Given the description of an element on the screen output the (x, y) to click on. 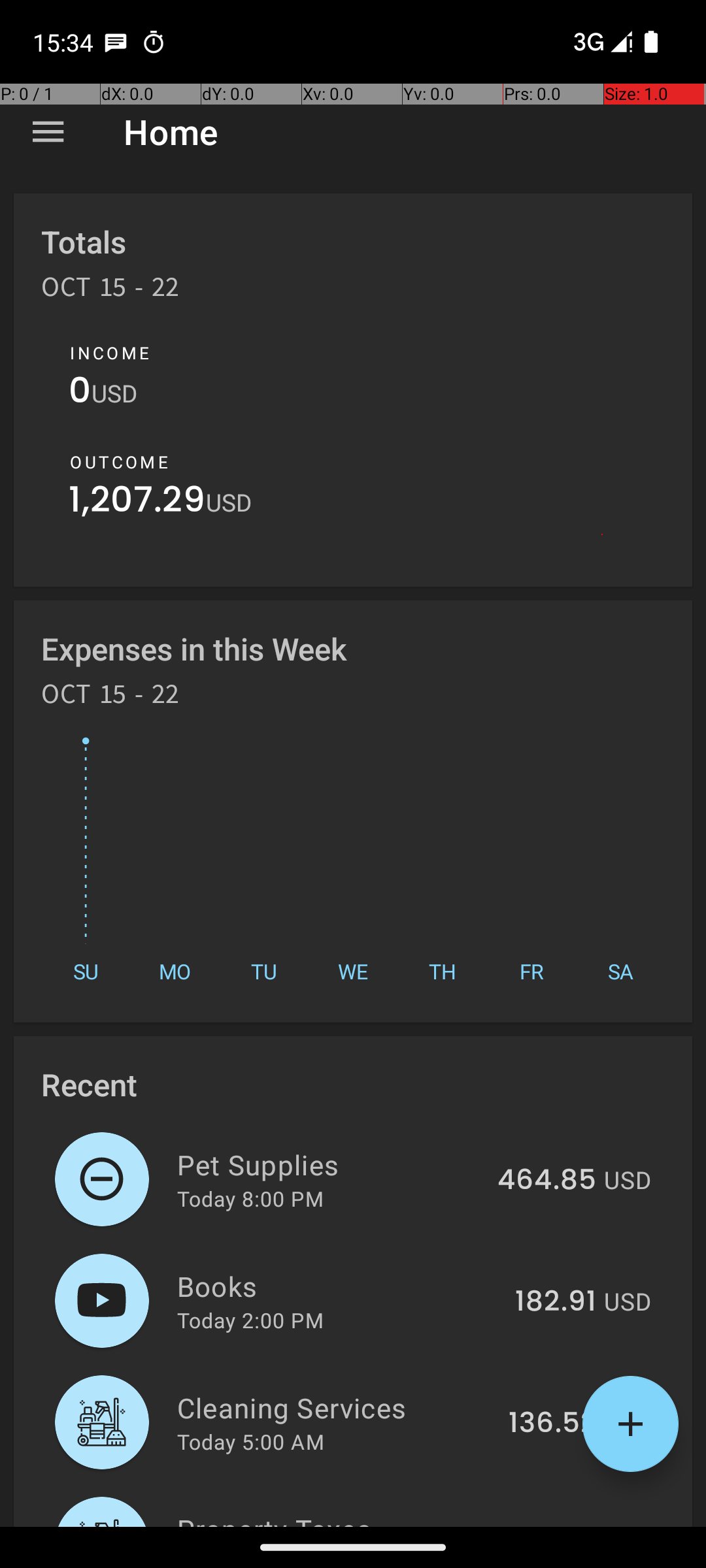
1,207.29 Element type: android.widget.TextView (136, 502)
Pet Supplies Element type: android.widget.TextView (329, 1164)
464.85 Element type: android.widget.TextView (546, 1180)
Books Element type: android.widget.TextView (338, 1285)
Today 2:00 PM Element type: android.widget.TextView (250, 1320)
182.91 Element type: android.widget.TextView (555, 1301)
Today 5:00 AM Element type: android.widget.TextView (250, 1441)
136.52 Element type: android.widget.TextView (551, 1423)
Property Taxes Element type: android.widget.TextView (344, 1518)
172.5 Element type: android.widget.TextView (561, 1524)
SMS Messenger notification: Freya Hernandez Element type: android.widget.ImageView (115, 41)
